Given the description of an element on the screen output the (x, y) to click on. 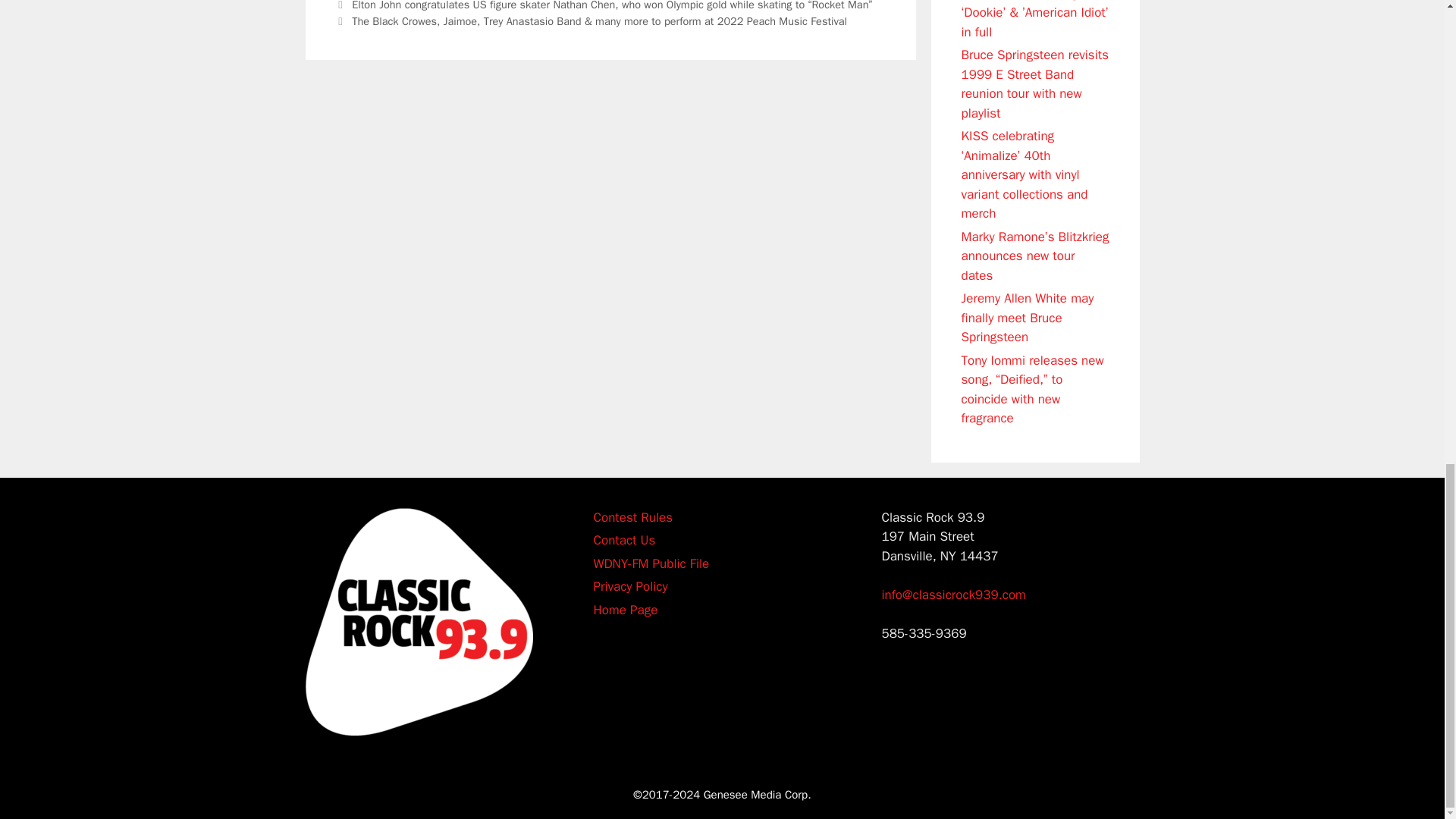
Contact Us (623, 539)
Home Page (625, 609)
Privacy Policy (629, 586)
Jeremy Allen White may finally meet Bruce Springsteen (1027, 317)
WDNY-FM Public File (650, 563)
Contest Rules (632, 516)
